Given the description of an element on the screen output the (x, y) to click on. 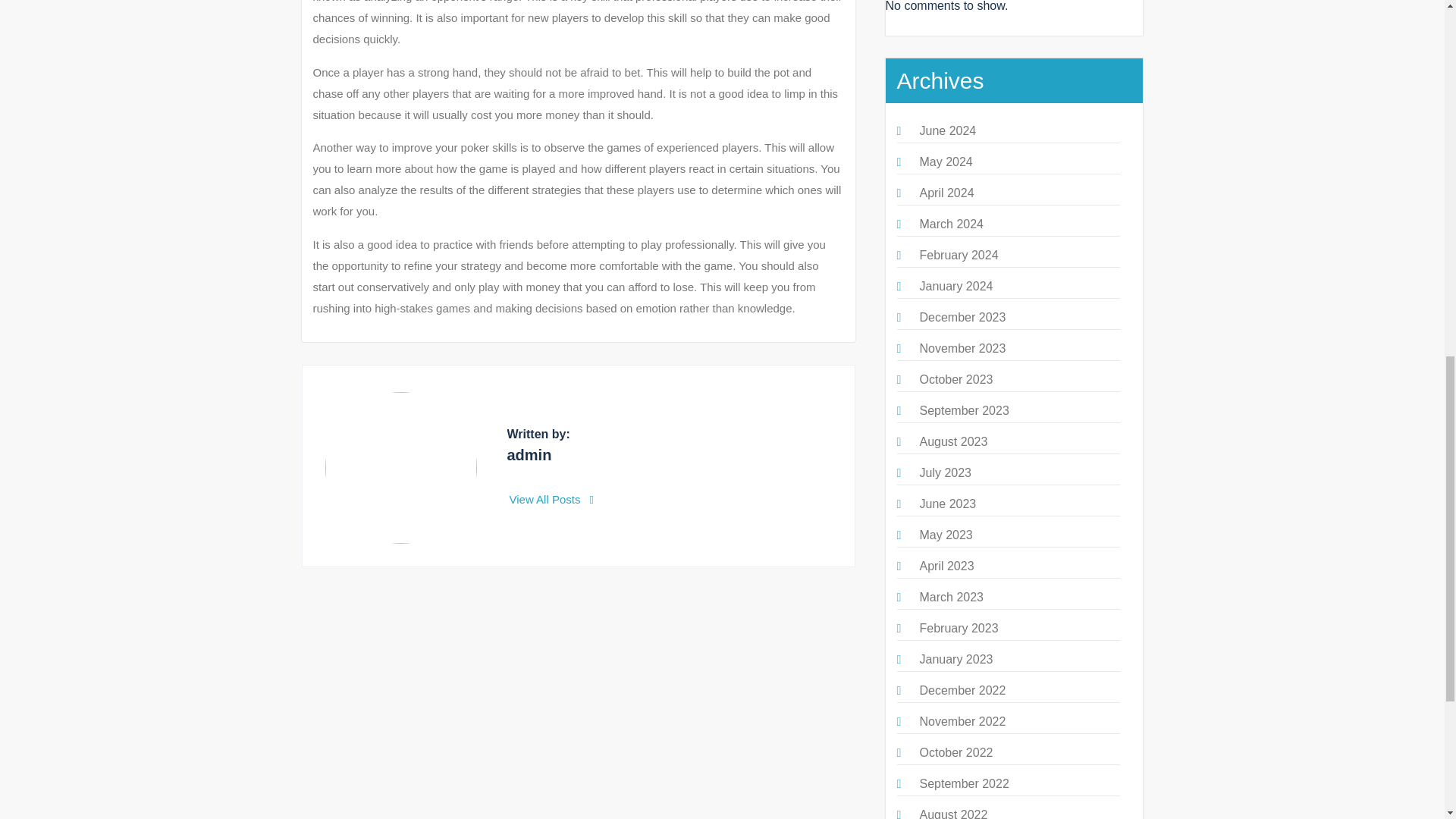
August 2022 (952, 813)
November 2022 (962, 721)
July 2023 (944, 472)
October 2022 (955, 752)
April 2024 (946, 192)
January 2023 (955, 658)
December 2022 (962, 689)
May 2024 (945, 161)
March 2023 (951, 596)
February 2024 (957, 254)
March 2024 (951, 223)
View All Posts (551, 499)
October 2023 (955, 379)
May 2023 (945, 534)
December 2023 (962, 317)
